Given the description of an element on the screen output the (x, y) to click on. 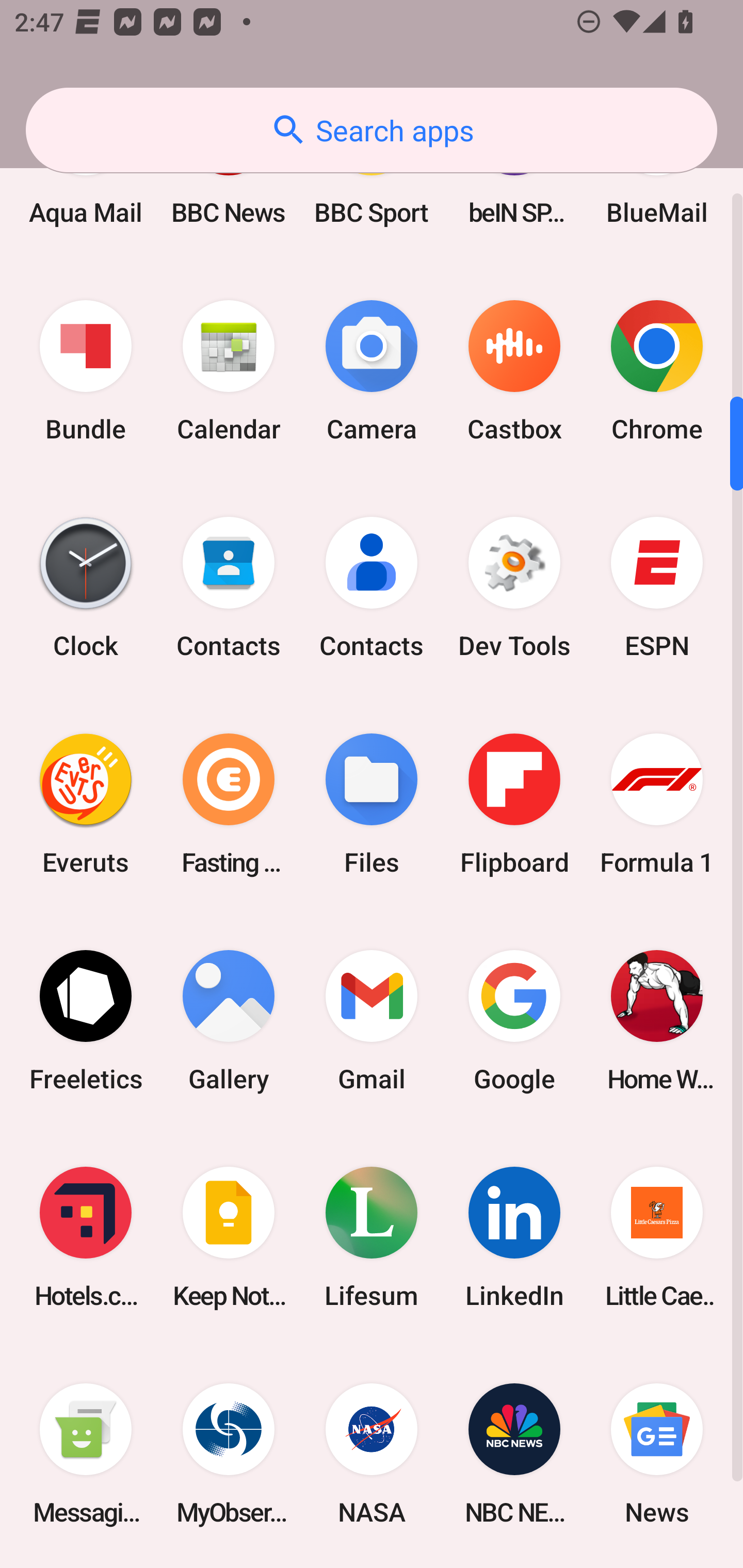
  Search apps (371, 130)
Bundle (85, 370)
Calendar (228, 370)
Camera (371, 370)
Castbox (514, 370)
Chrome (656, 370)
Clock (85, 587)
Contacts (228, 587)
Contacts (371, 587)
Dev Tools (514, 587)
ESPN (656, 587)
Everuts (85, 804)
Fasting Coach (228, 804)
Files (371, 804)
Flipboard (514, 804)
Formula 1 (656, 804)
Freeletics (85, 1020)
Gallery (228, 1020)
Gmail (371, 1020)
Google (514, 1020)
Home Workout (656, 1020)
Hotels.com (85, 1236)
Keep Notes (228, 1236)
Lifesum (371, 1236)
LinkedIn (514, 1236)
Little Caesars Pizza (656, 1236)
Messaging (85, 1453)
MyObservatory (228, 1453)
NASA (371, 1453)
NBC NEWS (514, 1453)
News (656, 1453)
